Given the description of an element on the screen output the (x, y) to click on. 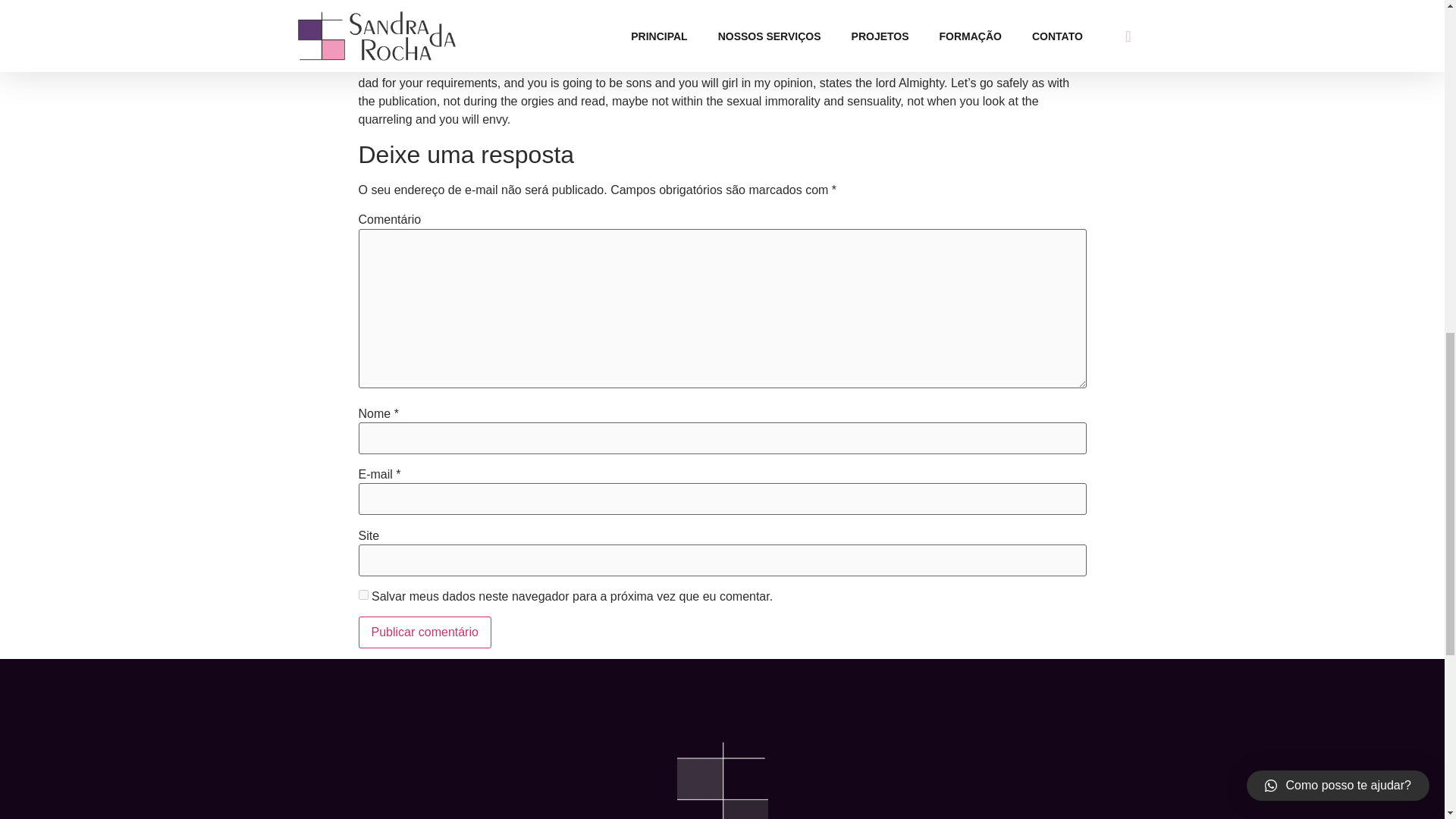
yes (363, 594)
logo-favicon (722, 780)
